Given the description of an element on the screen output the (x, y) to click on. 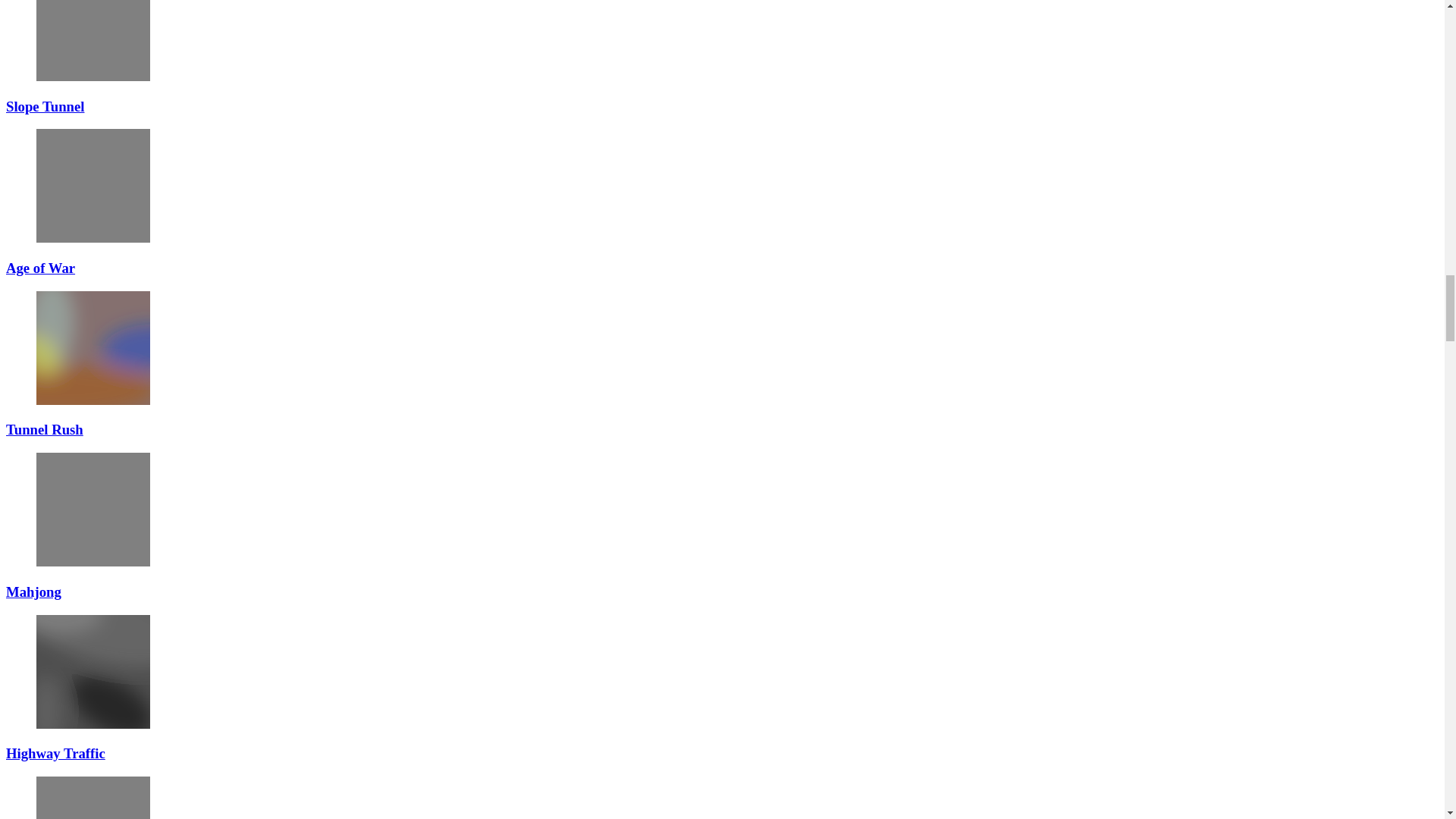
Highway Traffic (92, 671)
Slope Tunnel (92, 40)
Mahjong (92, 509)
Tunnel Rush (92, 347)
Age of War (92, 185)
